Given the description of an element on the screen output the (x, y) to click on. 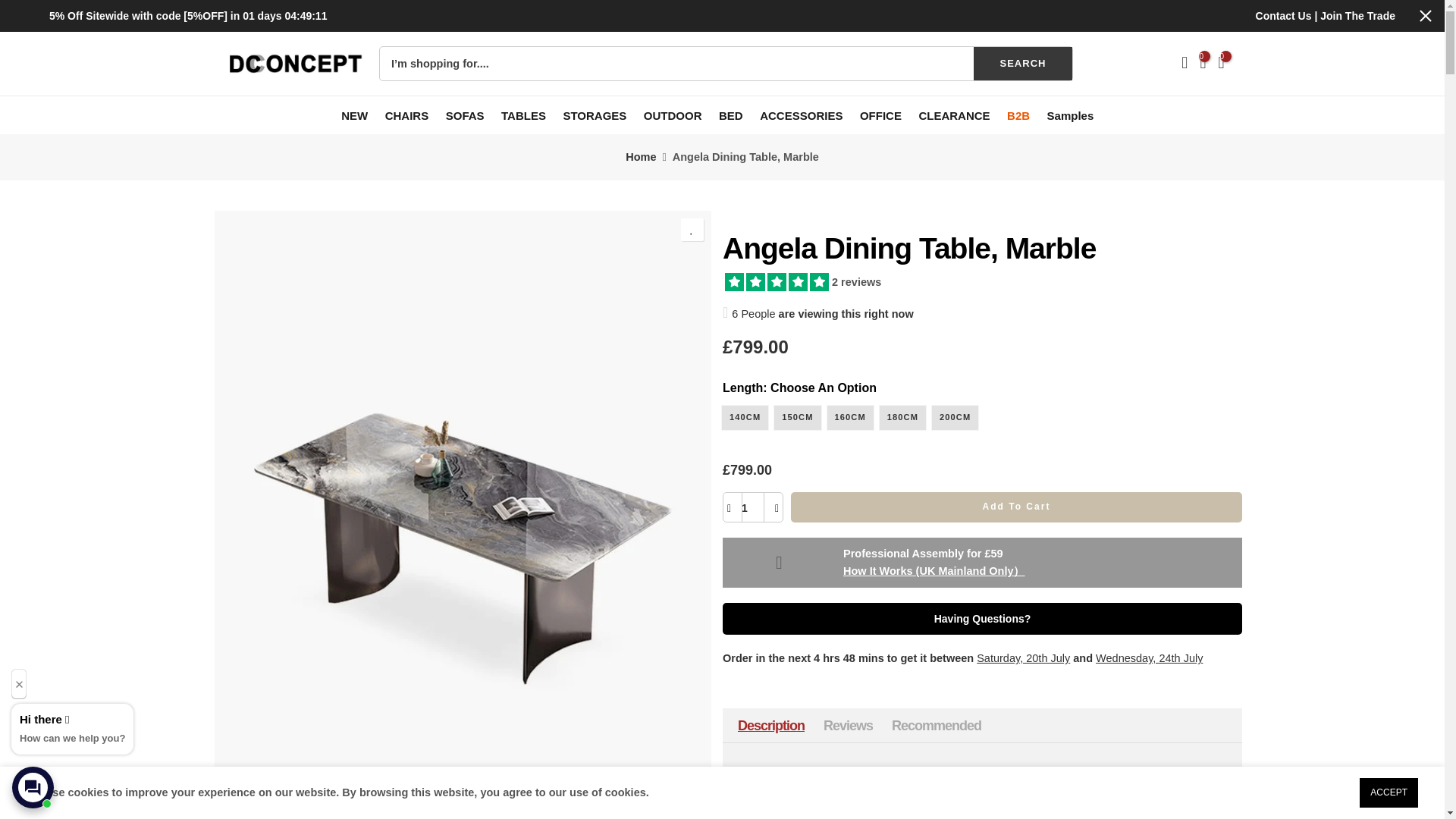
STORAGES (599, 115)
0 (1202, 63)
NEW (359, 115)
SEARCH (1022, 63)
SOFAS (469, 115)
CHAIRS (411, 115)
TABLES (528, 115)
